Given the description of an element on the screen output the (x, y) to click on. 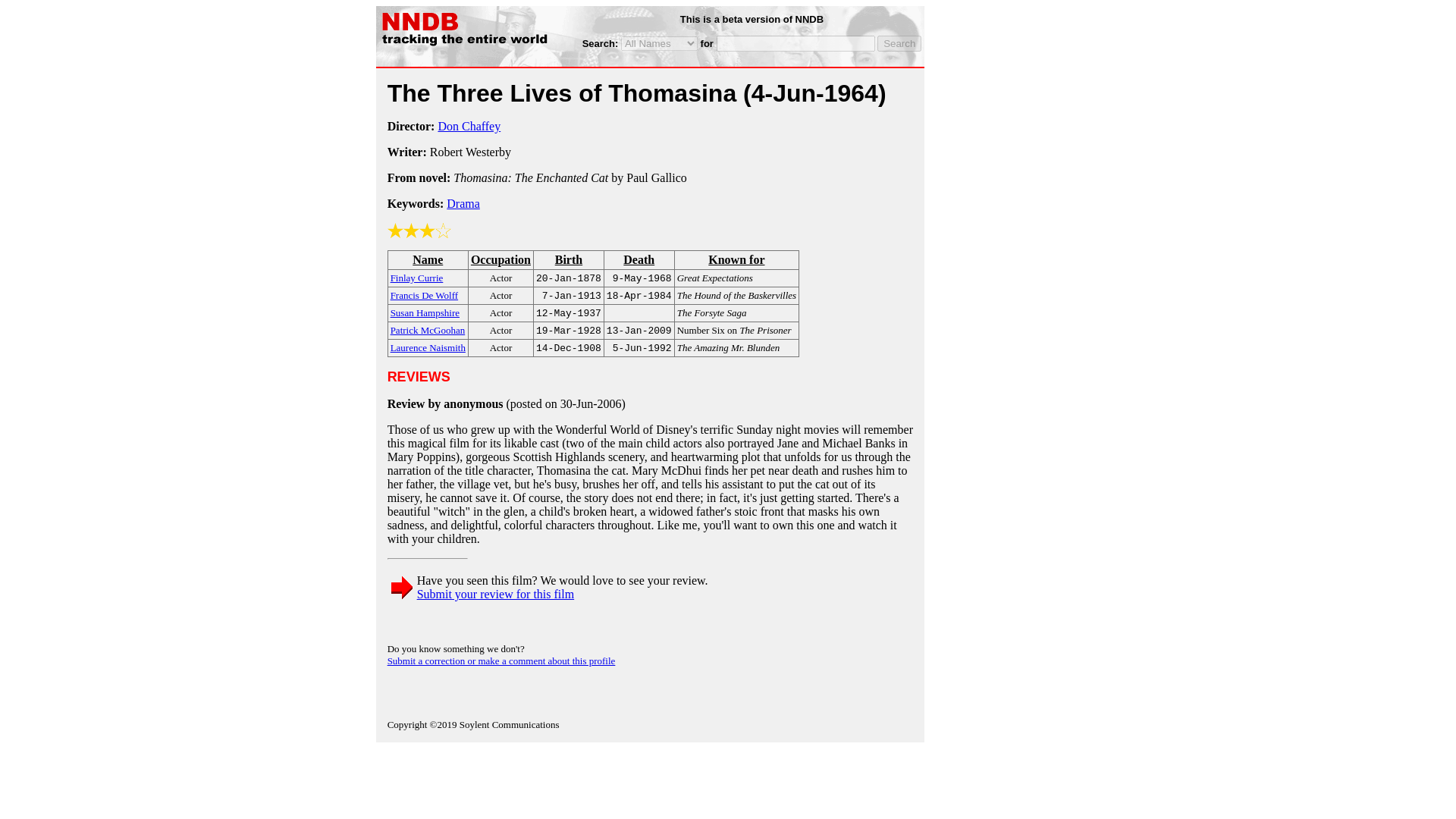
Search (899, 43)
Susan Hampshire (425, 311)
Known for (736, 259)
Laurence Naismith (427, 346)
Name (427, 259)
Finlay Currie (417, 277)
Drama (463, 203)
Search (899, 43)
Submit a correction or make a comment about this profile (501, 660)
Patrick McGoohan (427, 328)
Submit your review for this film (495, 594)
Birth (568, 259)
Occupation (500, 259)
Death (639, 259)
Francis De Wolff (424, 294)
